Given the description of an element on the screen output the (x, y) to click on. 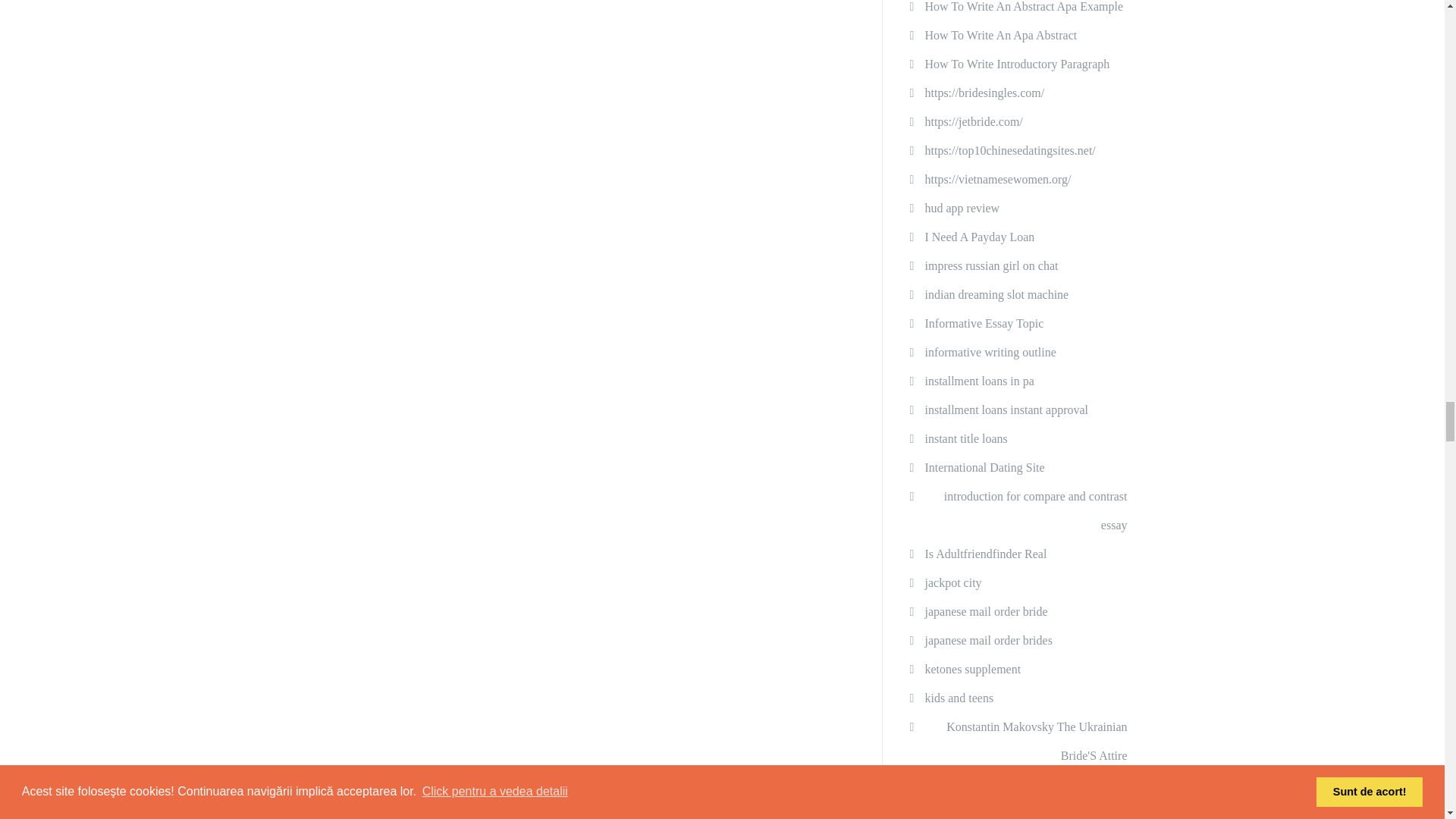
kids and teens (958, 697)
